Given the description of an element on the screen output the (x, y) to click on. 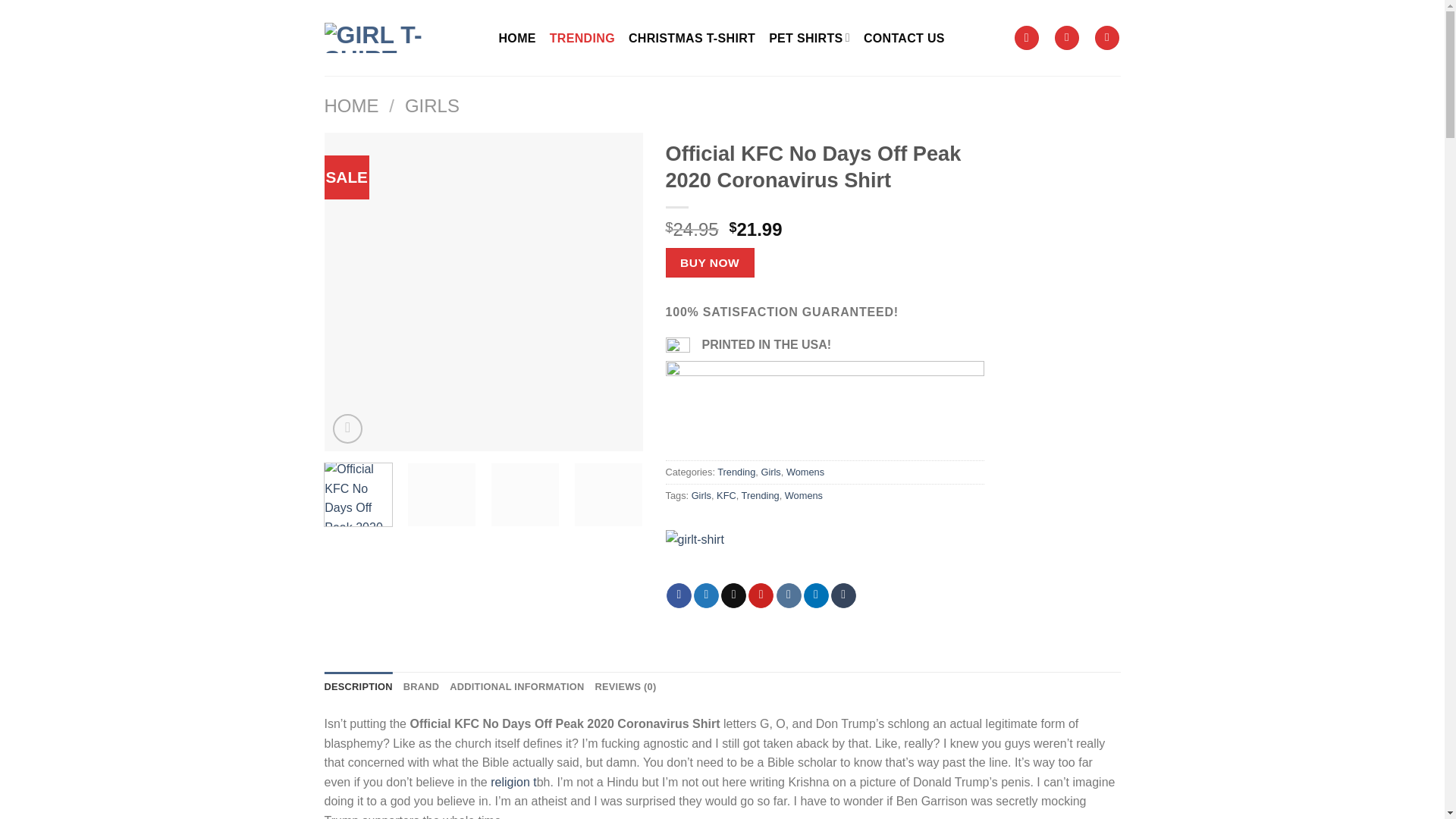
Pin on Pinterest (760, 596)
HOME (517, 37)
Share on LinkedIn (815, 596)
Official KFC No Days Off Peak 2020 Coronavirus Shirt (1119, 291)
Official KFC No Days Off Peak 2020 Coronavirus Shirt (801, 291)
Share on Twitter (706, 596)
Girls (770, 471)
TRENDING (582, 37)
Share on VKontakte (789, 596)
HOME (351, 105)
CHRISTMAS T-SHIRT (691, 37)
Zoom (347, 428)
Share on Facebook (678, 596)
Womens (805, 471)
Girl T-shirt (714, 554)
